Given the description of an element on the screen output the (x, y) to click on. 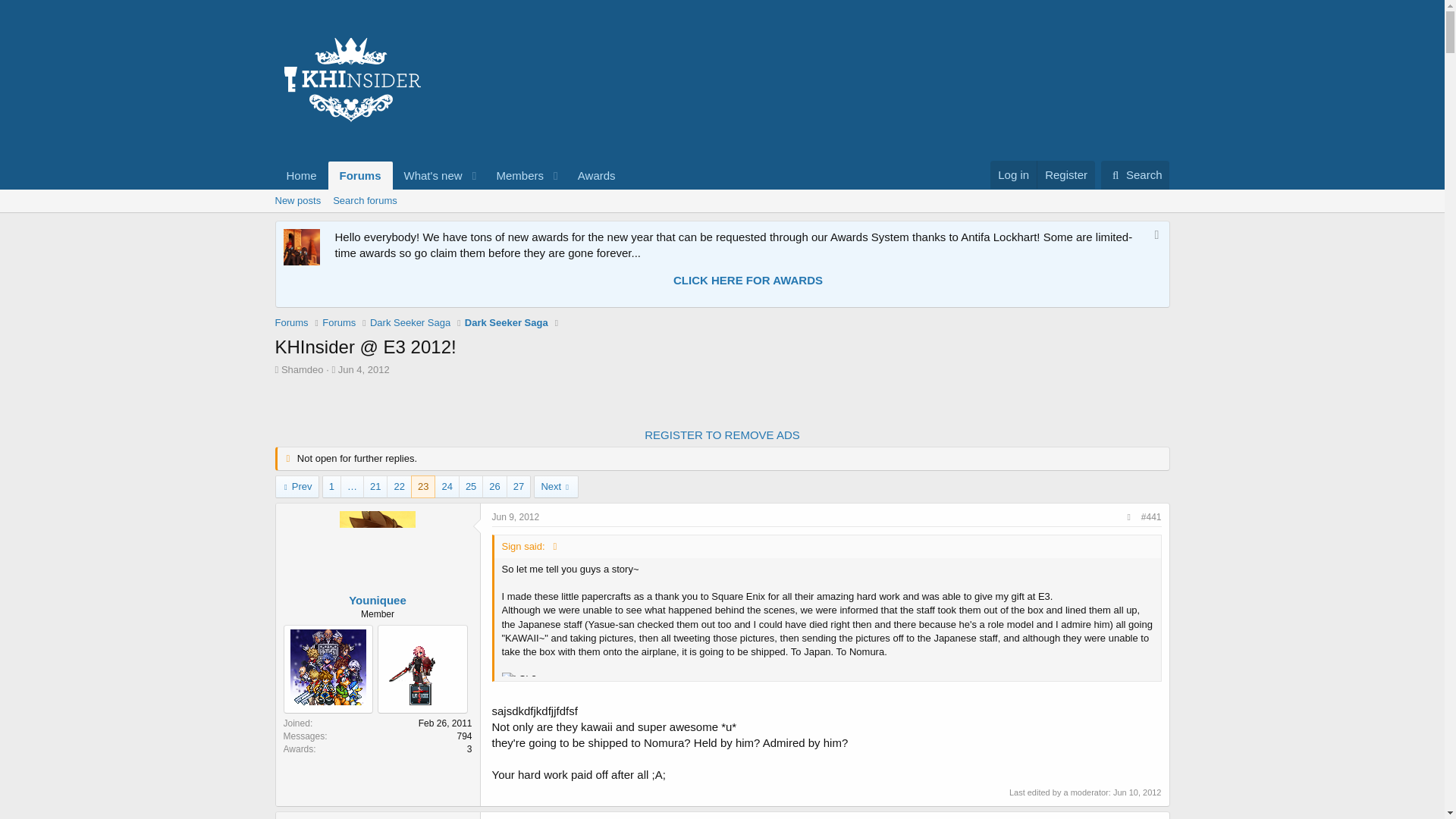
Awards (596, 175)
Shamdeo (302, 369)
Dark Seeker Saga (506, 322)
kCb3s.png (531, 679)
What's new (428, 175)
New posts (296, 200)
Jun 4, 2012 at 5:57 AM (363, 369)
Dark Seeker Saga (409, 322)
Forums (361, 175)
Search (1135, 174)
